Given the description of an element on the screen output the (x, y) to click on. 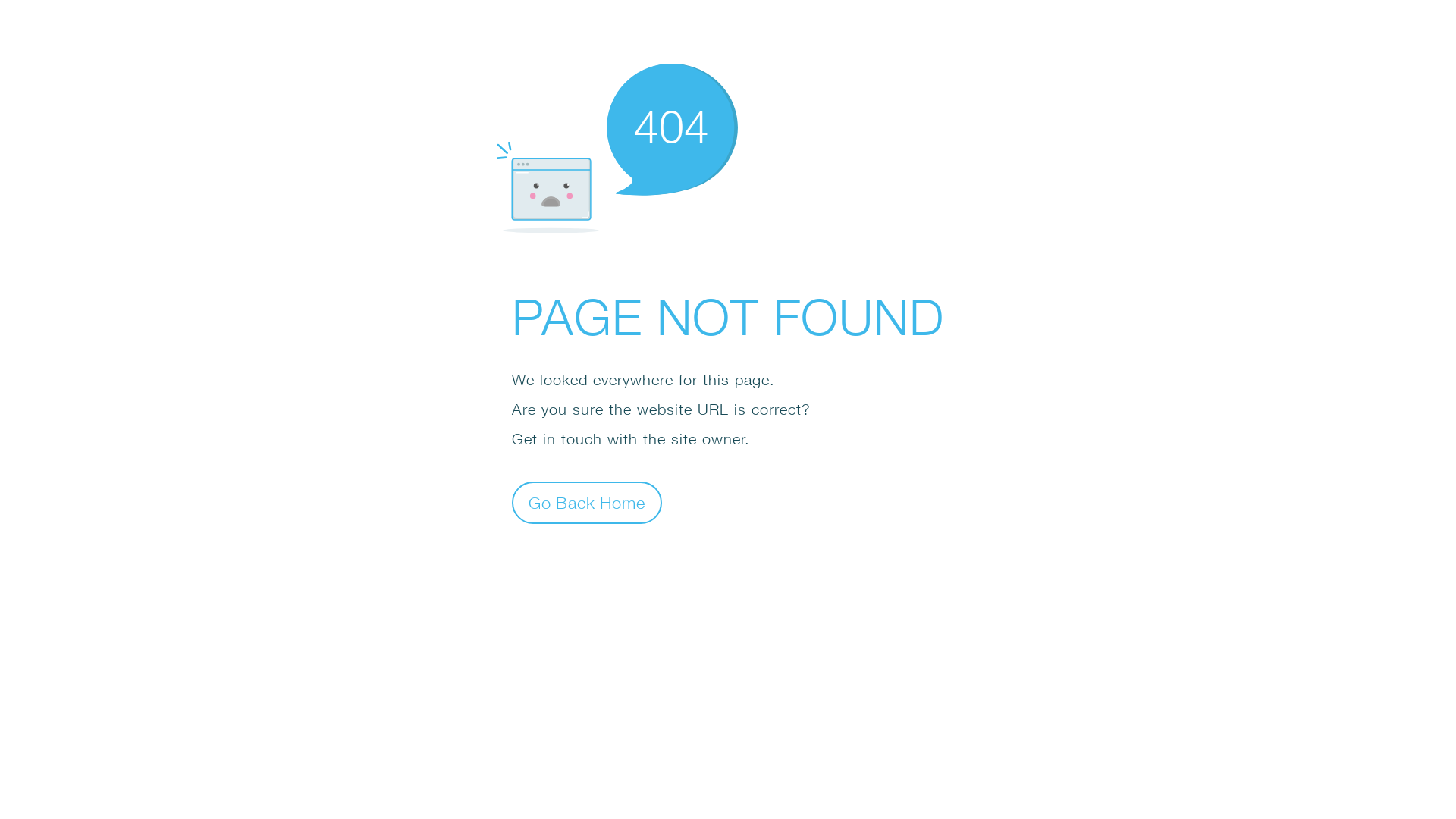
Go Back Home Element type: text (586, 502)
